Given the description of an element on the screen output the (x, y) to click on. 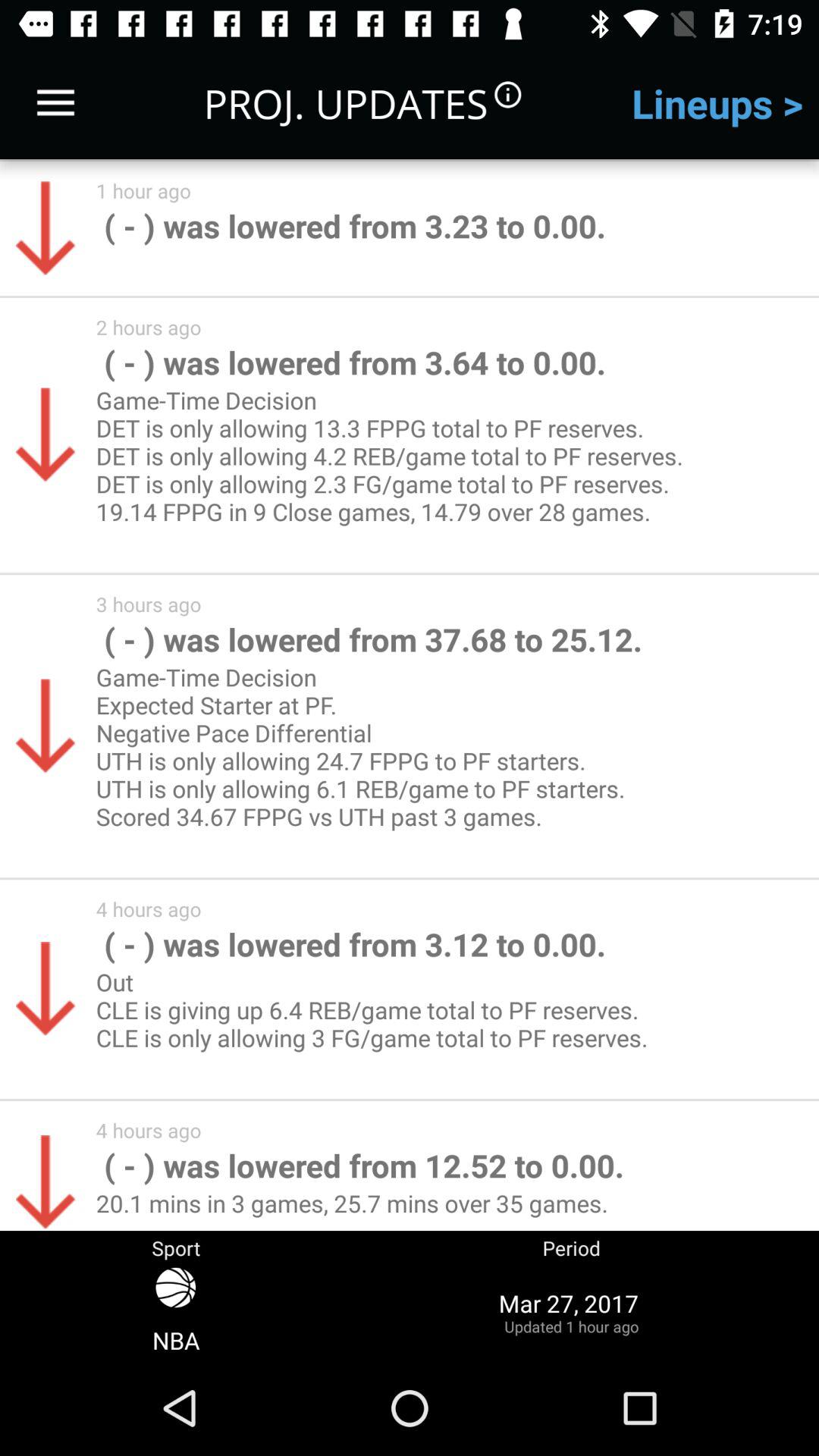
click nba icon (175, 1311)
